Given the description of an element on the screen output the (x, y) to click on. 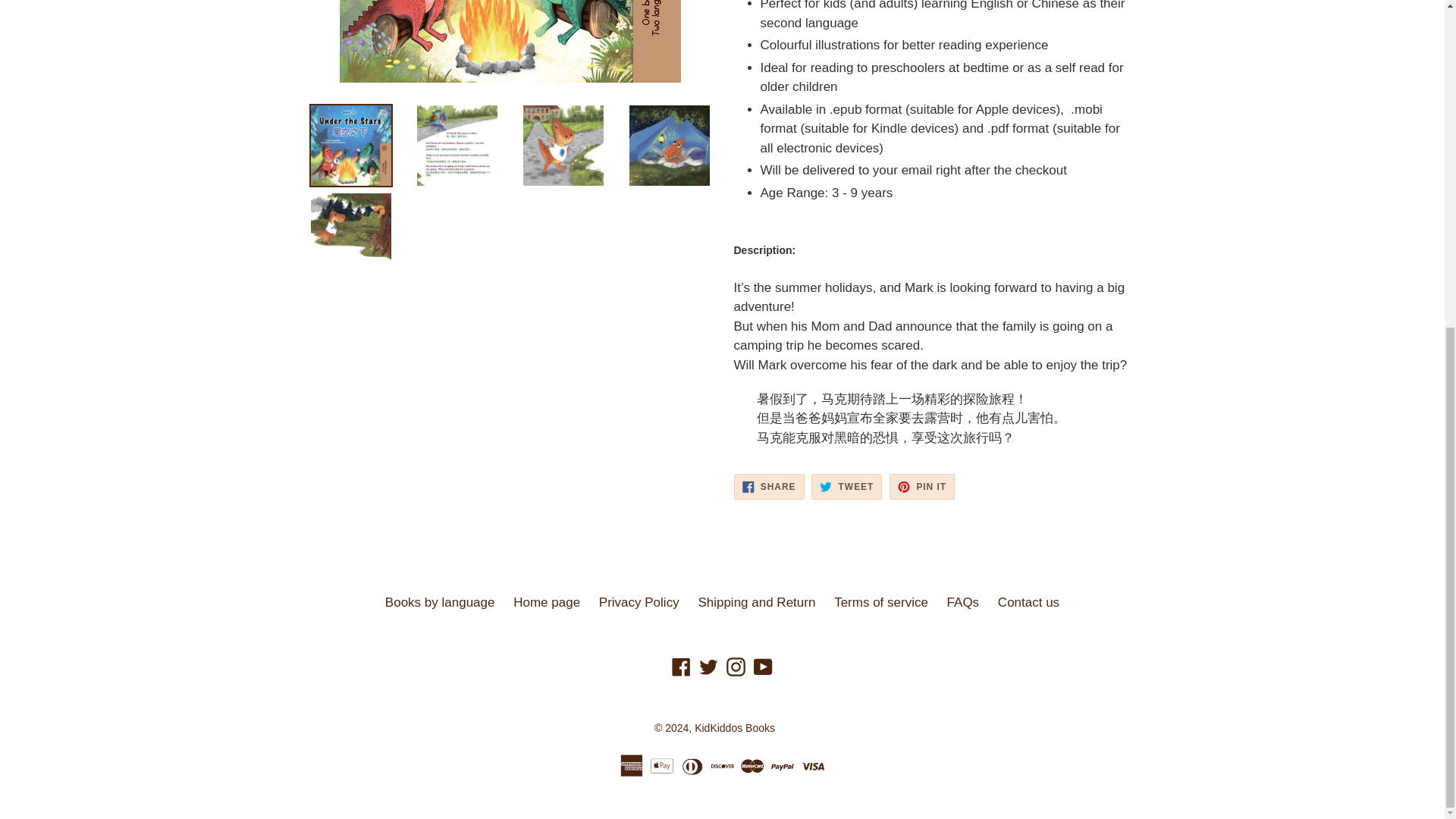
KidKiddos Books  on YouTube (762, 666)
Share on Facebook (769, 486)
Tweet on Twitter (846, 486)
KidKiddos Books  on Twitter (708, 666)
KidKiddos Books  on Instagram (735, 666)
KidKiddos Books  on Facebook (681, 666)
Pin on Pinterest (922, 486)
